Given the description of an element on the screen output the (x, y) to click on. 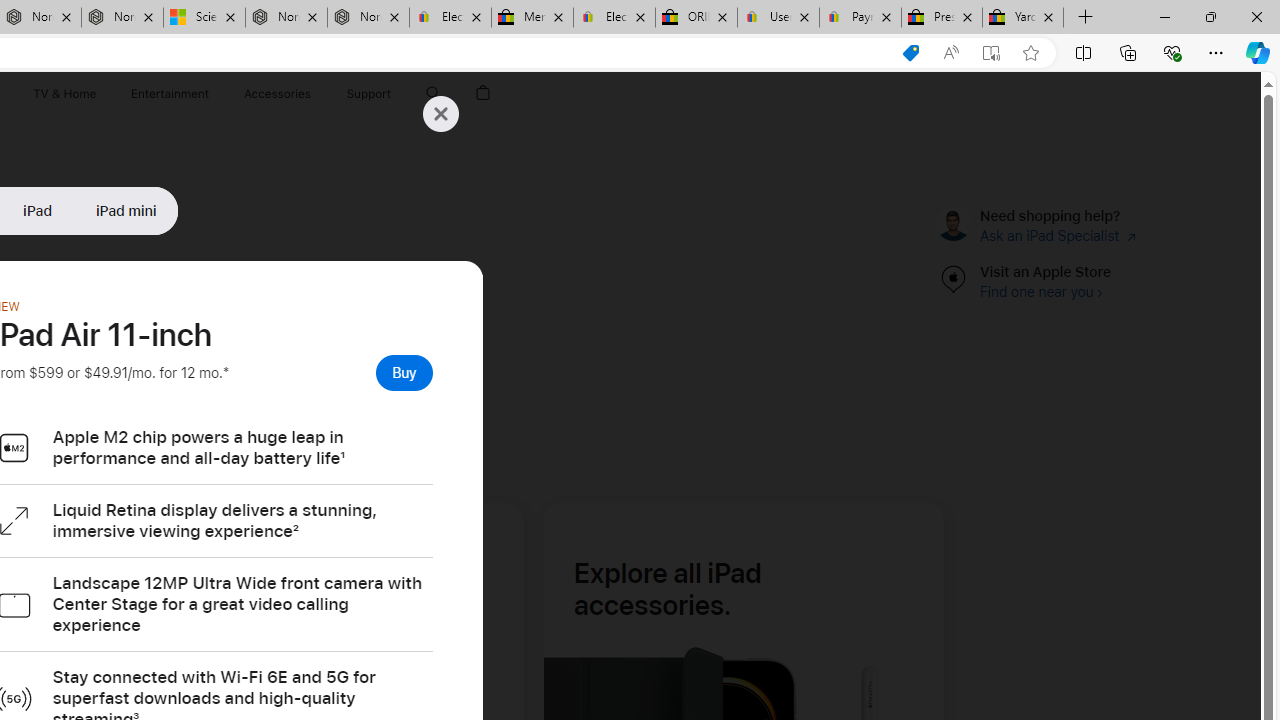
User Privacy Notice | eBay (778, 17)
Payments Terms of Use | eBay.com (860, 17)
Yard, Garden & Outdoor Living (1023, 17)
iPad (37, 210)
